Given the description of an element on the screen output the (x, y) to click on. 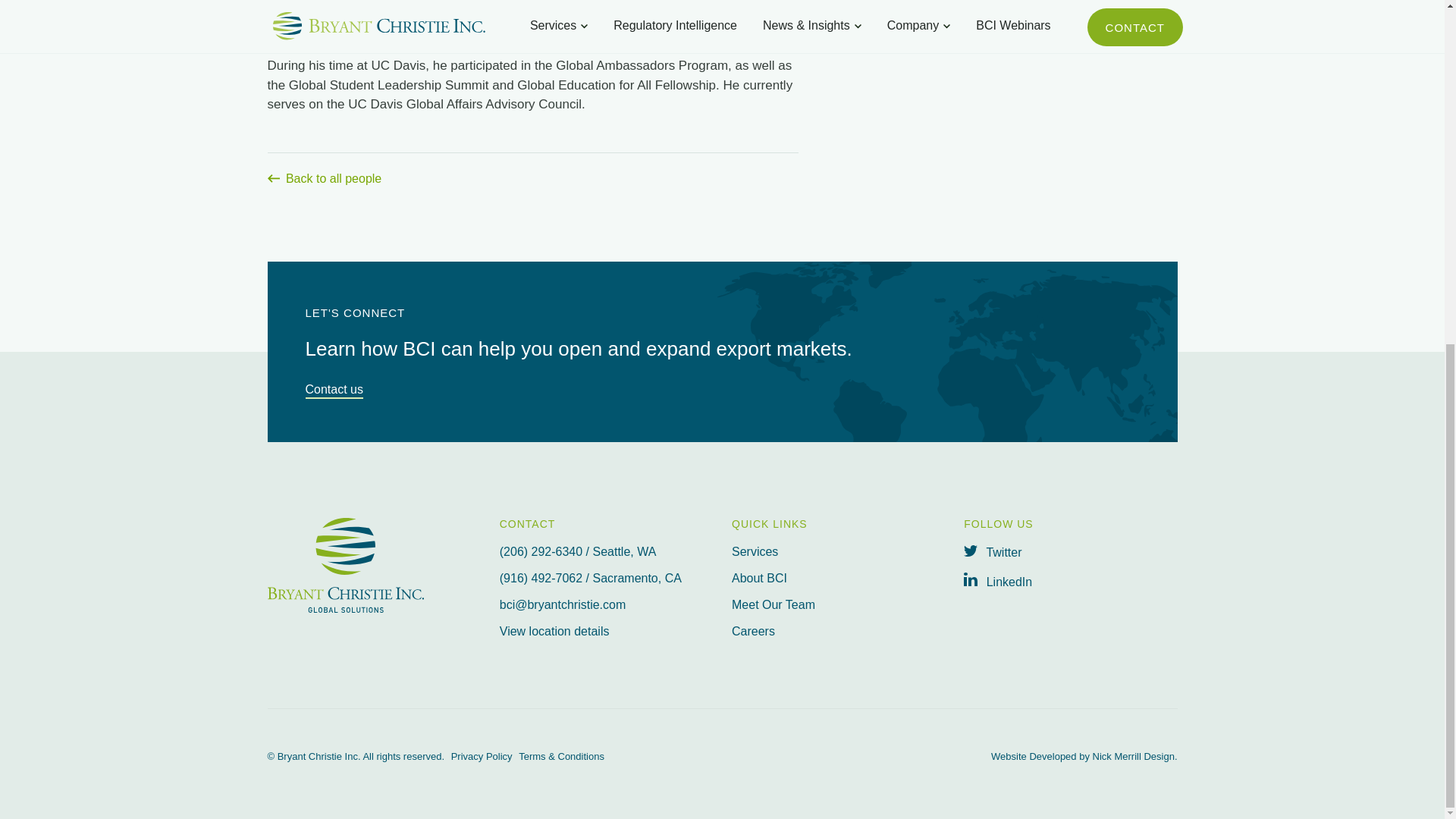
View location details (606, 631)
Privacy Policy (481, 756)
Twitter (1069, 552)
Meet Our Team (838, 604)
About BCI (838, 578)
Back to all people (531, 168)
Contact us (333, 390)
LinkedIn (1069, 580)
Nick Merrill Design. (1135, 756)
Careers (838, 631)
